Given the description of an element on the screen output the (x, y) to click on. 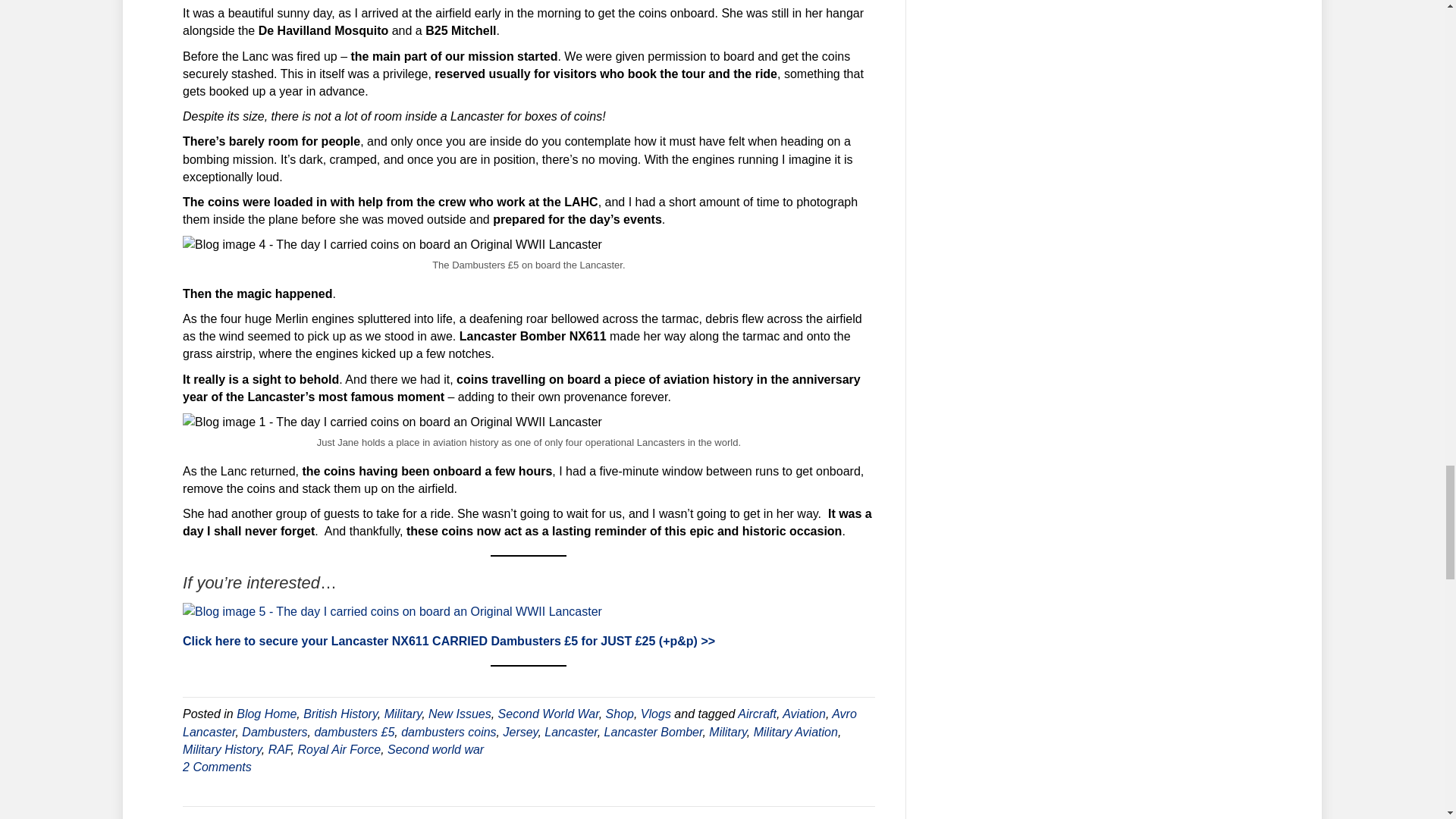
The day I carried coins on board an Original WWII Lancaster (392, 610)
The day I carried coins on board an Original WWII Lancaster (392, 421)
The day I carried coins on board an Original WWII Lancaster (392, 244)
